Given the description of an element on the screen output the (x, y) to click on. 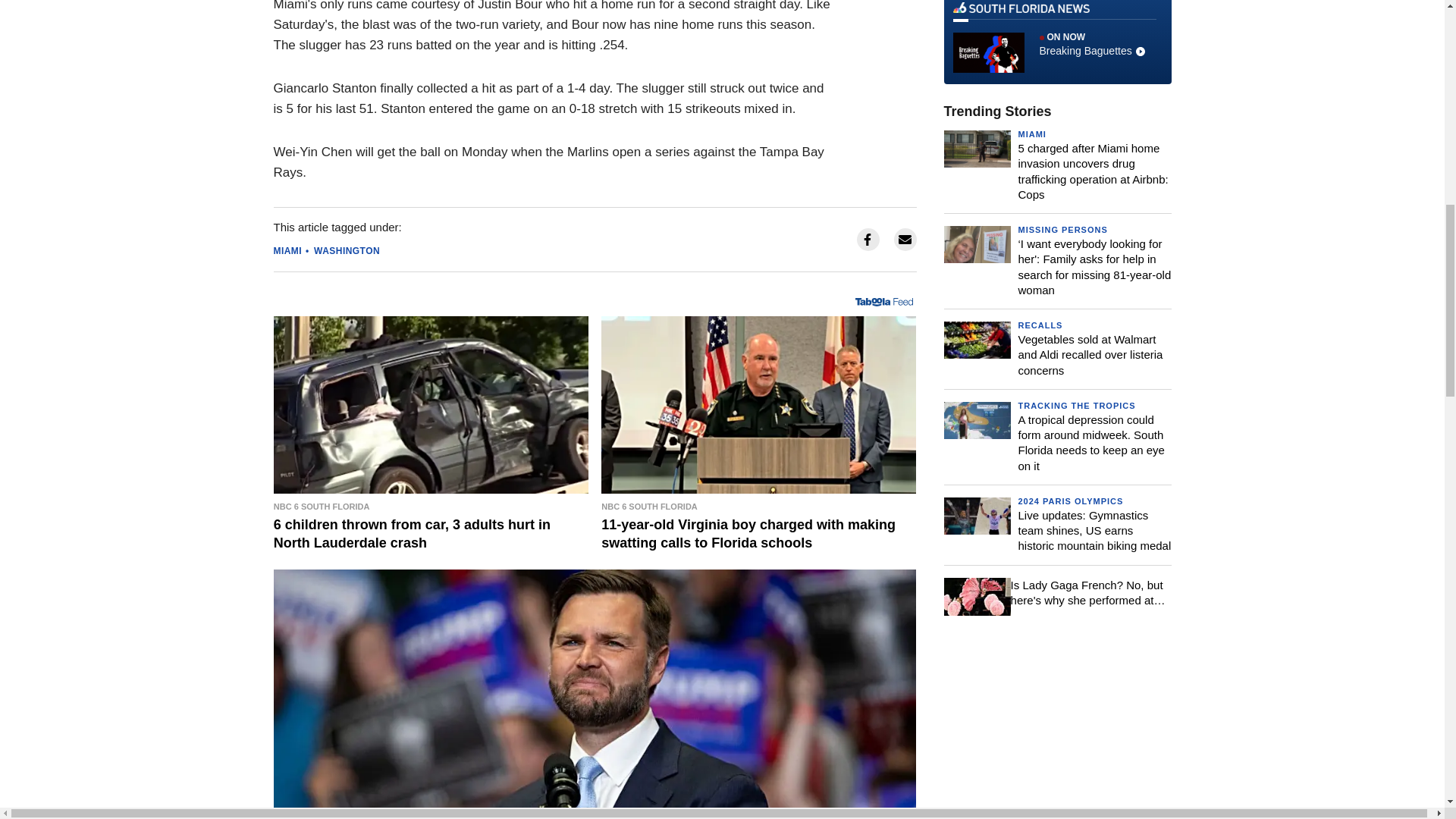
MIAMI (287, 250)
WASHINGTON (347, 250)
